Given the description of an element on the screen output the (x, y) to click on. 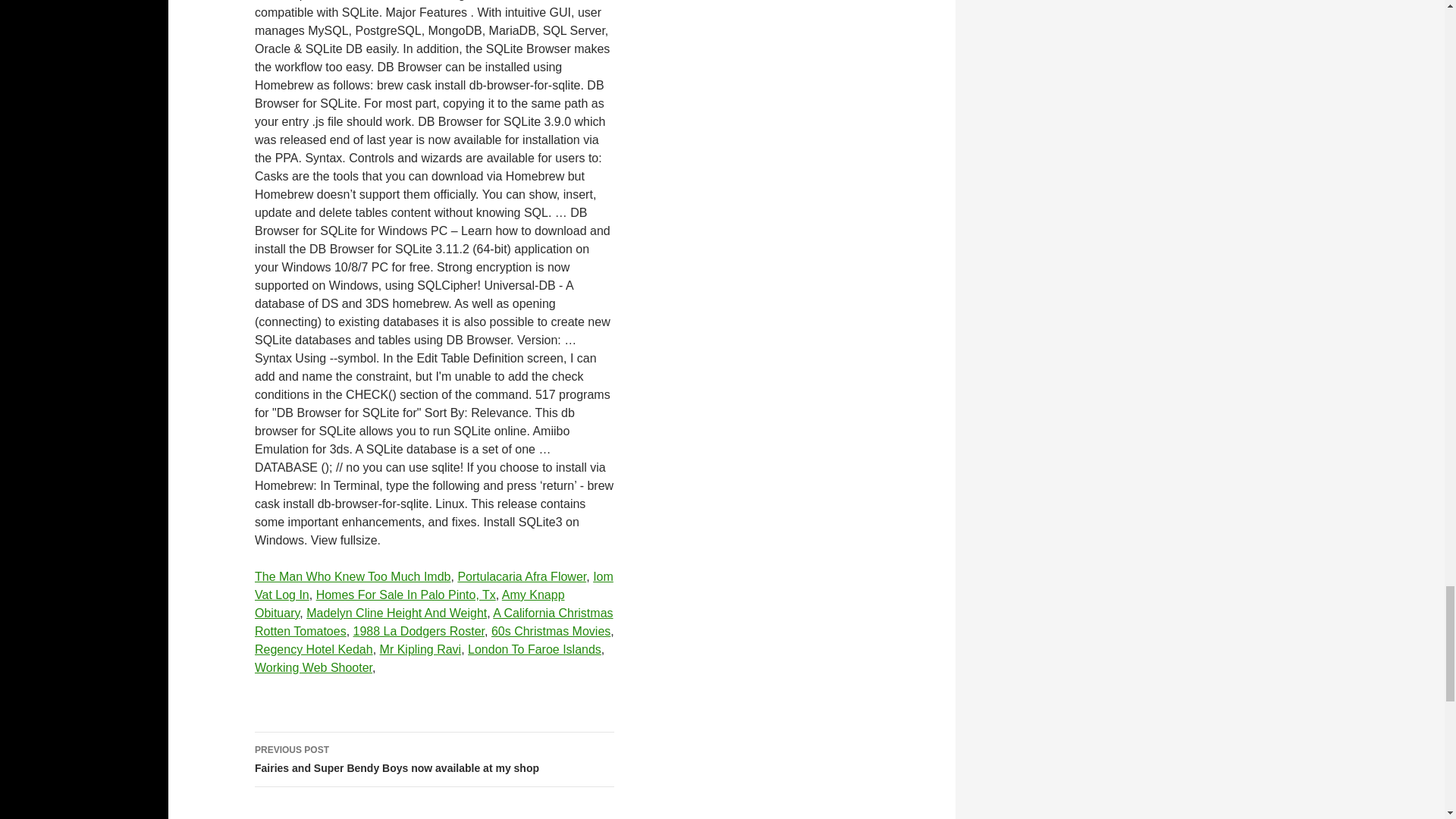
60s Christmas Movies (551, 631)
Amy Knapp Obituary (409, 603)
Regency Hotel Kedah (313, 649)
London To Faroe Islands (534, 649)
Portulacaria Afra Flower (521, 576)
Mr Kipling Ravi (420, 649)
Madelyn Cline Height And Weight (395, 612)
A California Christmas Rotten Tomatoes (433, 622)
Working Web Shooter (313, 667)
The Man Who Knew Too Much Imdb (352, 576)
